Given the description of an element on the screen output the (x, y) to click on. 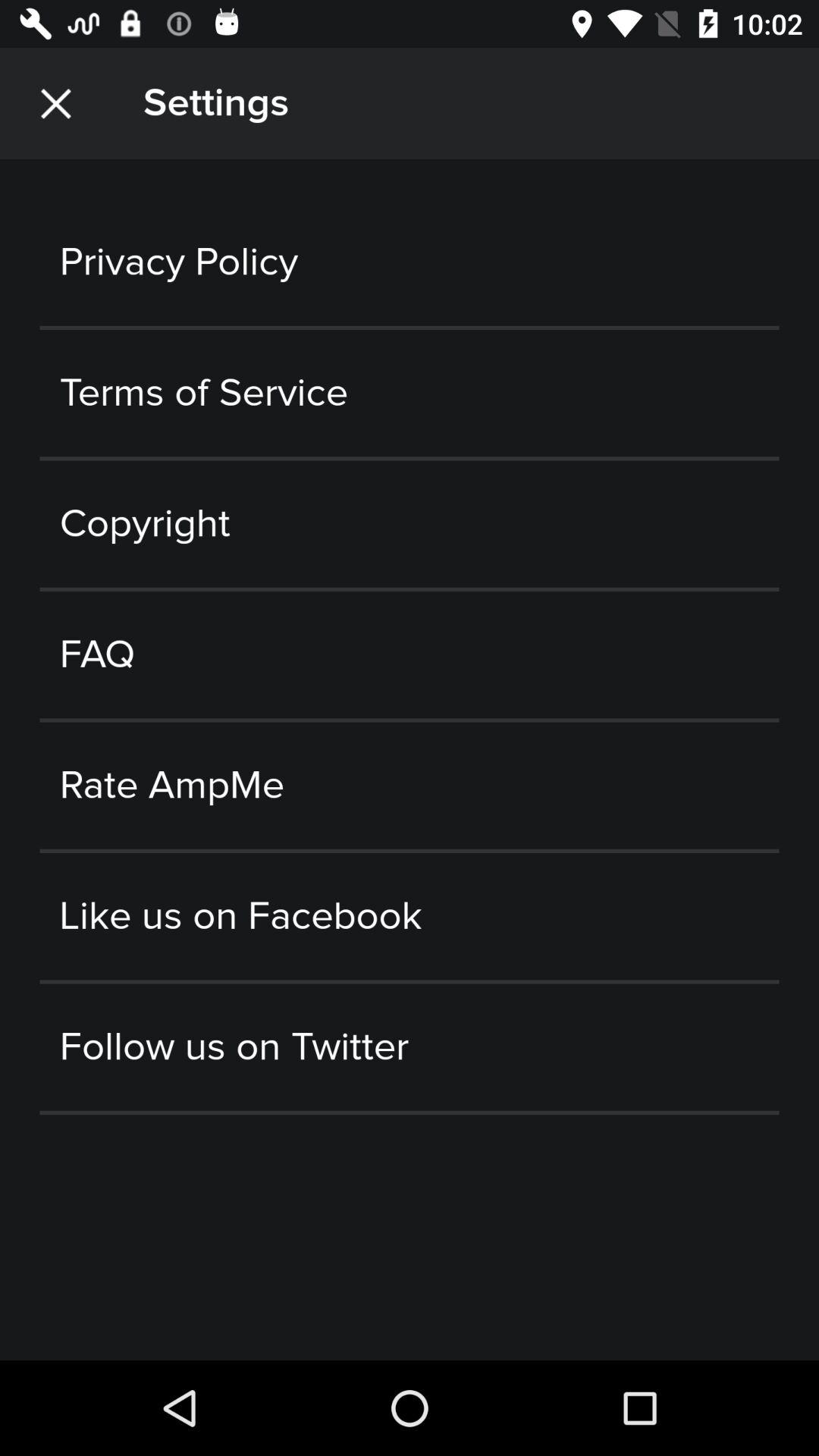
scroll to rate ampme icon (409, 785)
